Given the description of an element on the screen output the (x, y) to click on. 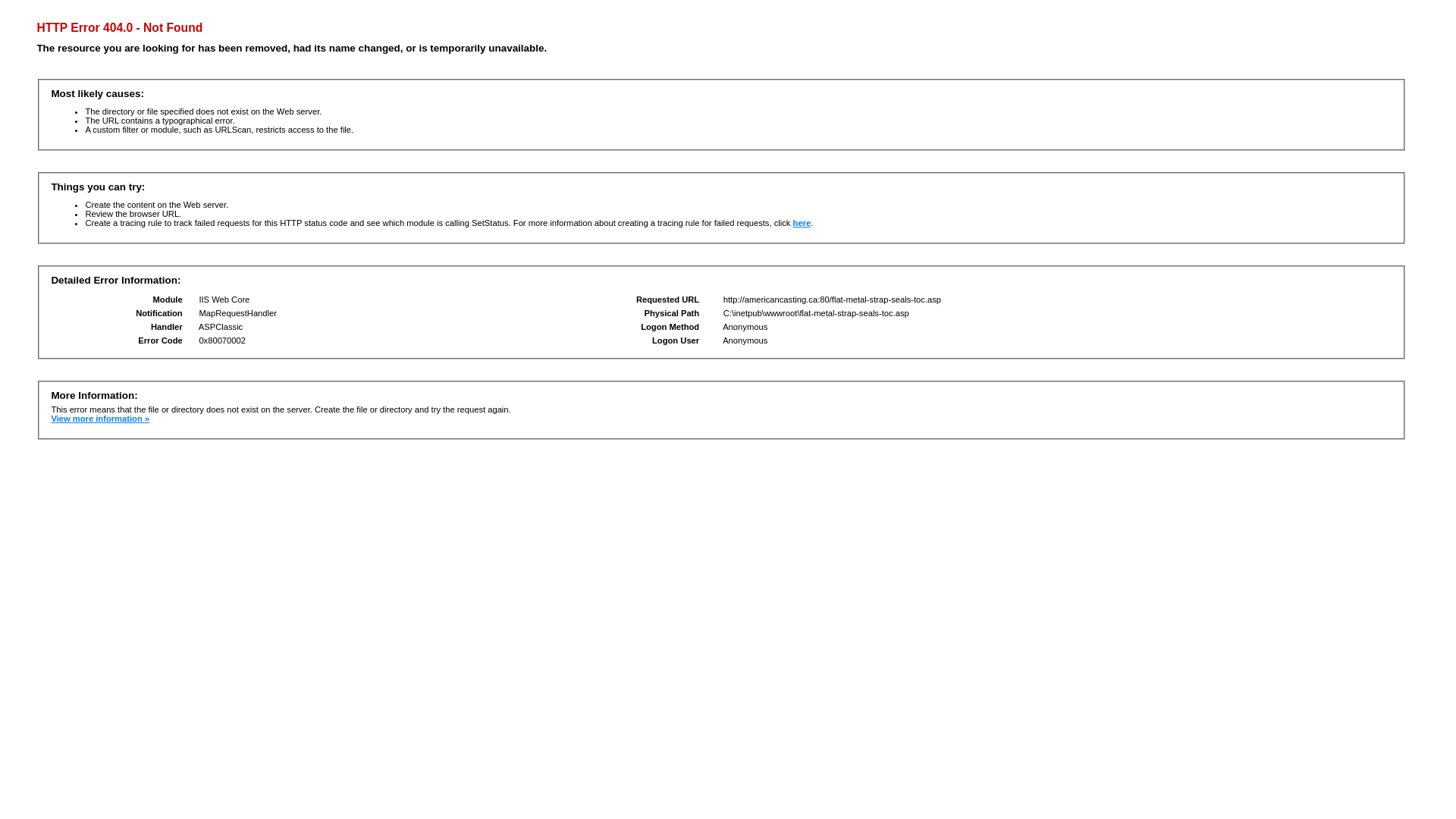
here Element type: text (802, 222)
